Given the description of an element on the screen output the (x, y) to click on. 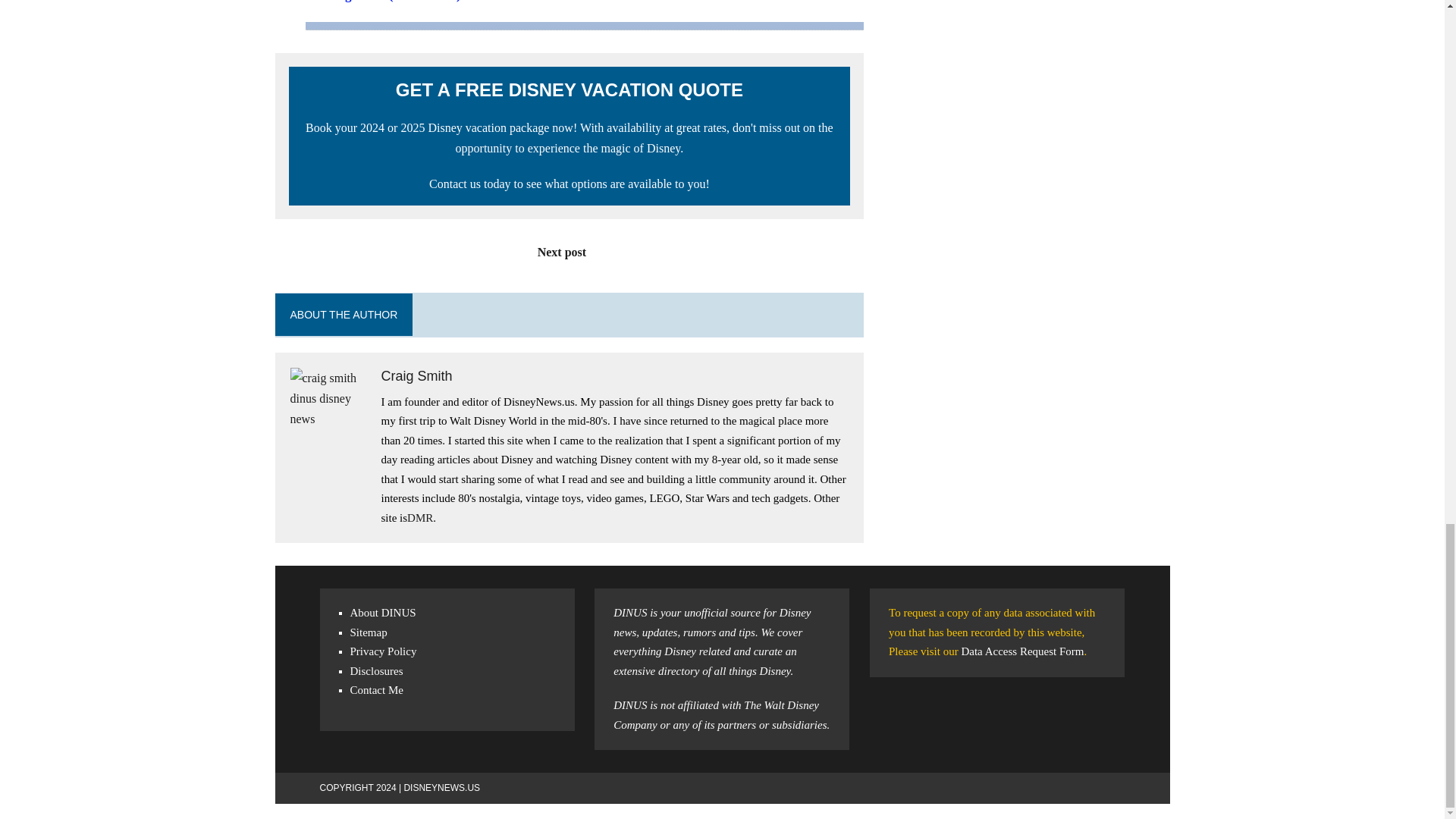
DMR (419, 517)
Contact us today to see what options are available to you! (569, 183)
Craig Smith (415, 376)
About DisneyNews (383, 612)
GET A FREE DISNEY VACATION QUOTE (569, 89)
Next post (569, 251)
The Walt Disney Company (715, 715)
